Given the description of an element on the screen output the (x, y) to click on. 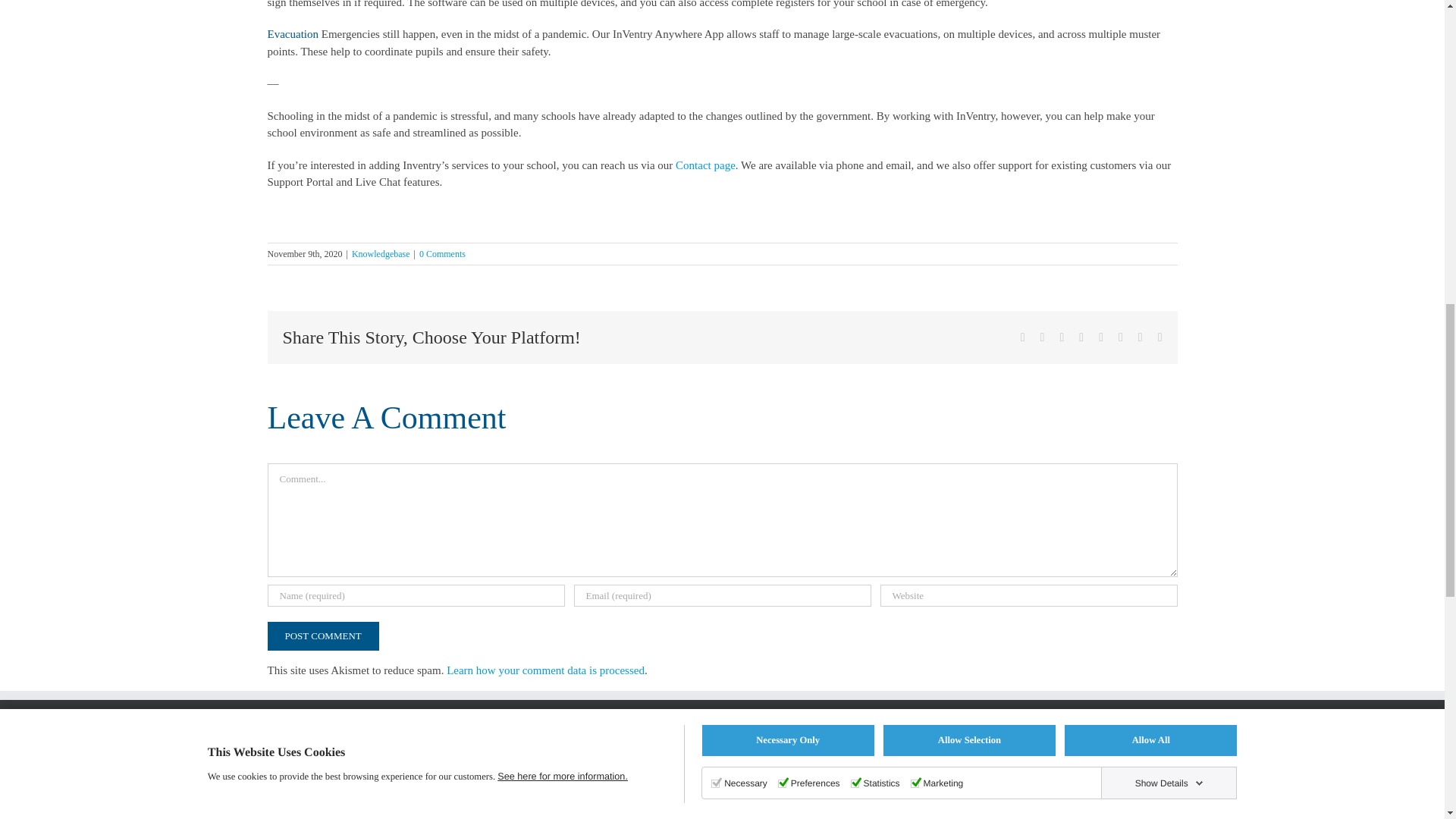
Post Comment (322, 635)
